Given the description of an element on the screen output the (x, y) to click on. 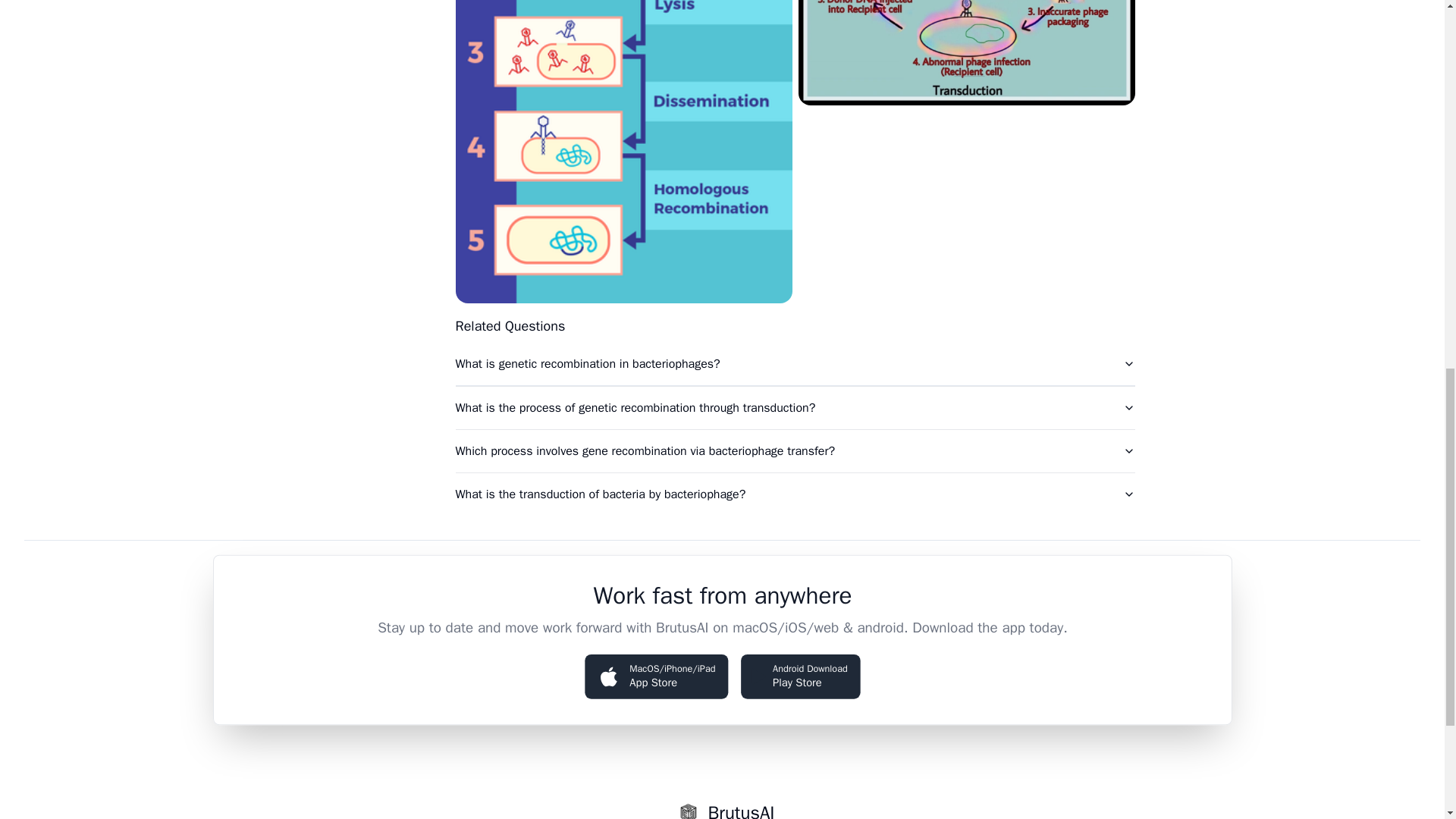
What is the transduction of bacteria by bacteriophage? (797, 675)
What is genetic recombination in bacteriophages? (794, 494)
